Given the description of an element on the screen output the (x, y) to click on. 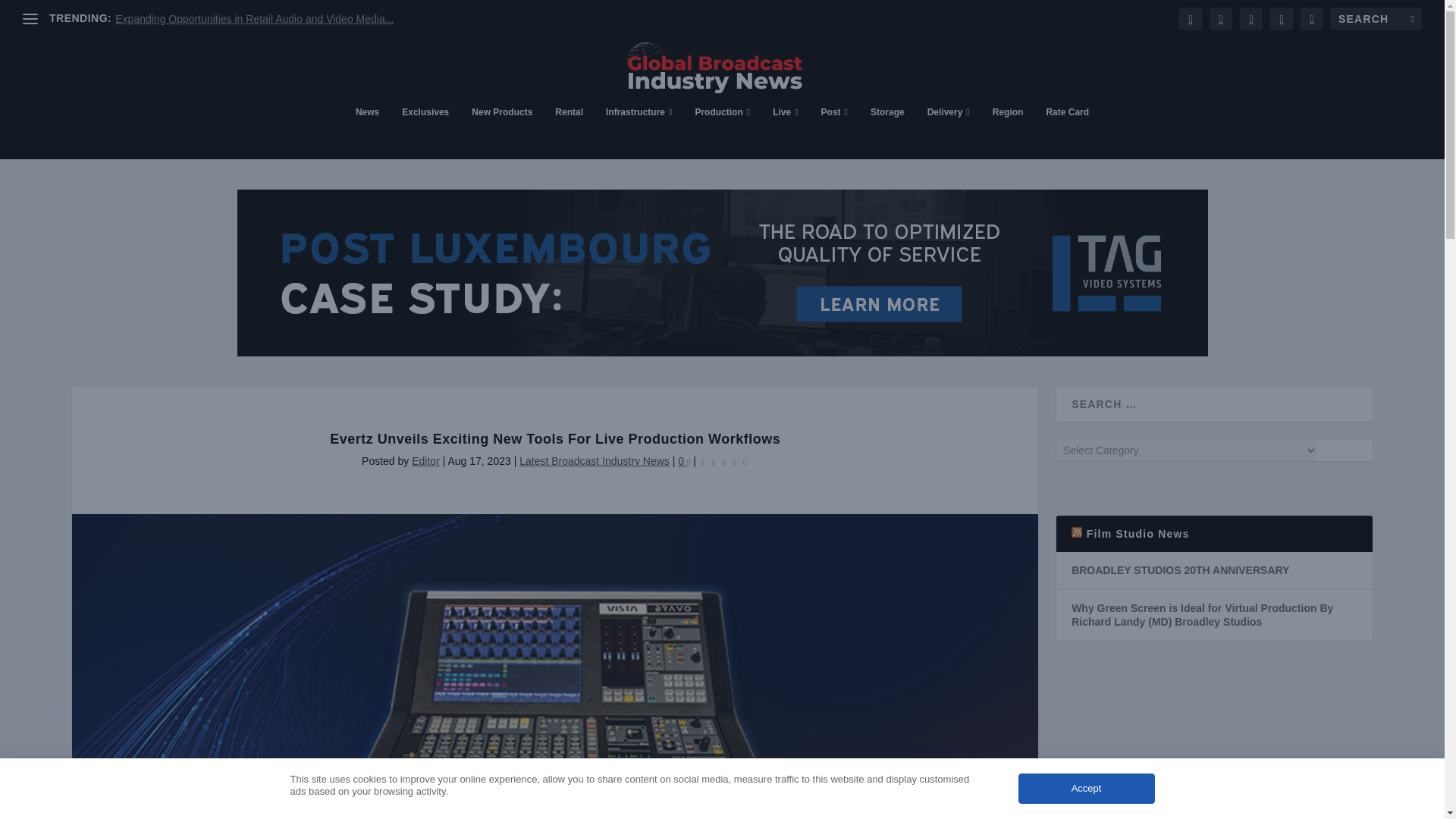
Live (785, 132)
Infrastructure (638, 132)
New Products (501, 132)
Rental (568, 132)
Post (834, 132)
Storage (887, 132)
Production (721, 132)
Expanding Opportunities in Retail Audio and Video Media... (254, 19)
Posts by Editor (425, 460)
Rating: 0.00 (723, 461)
Search for: (1376, 18)
comment count (688, 462)
News (366, 132)
Delivery (948, 132)
Exclusives (424, 132)
